Given the description of an element on the screen output the (x, y) to click on. 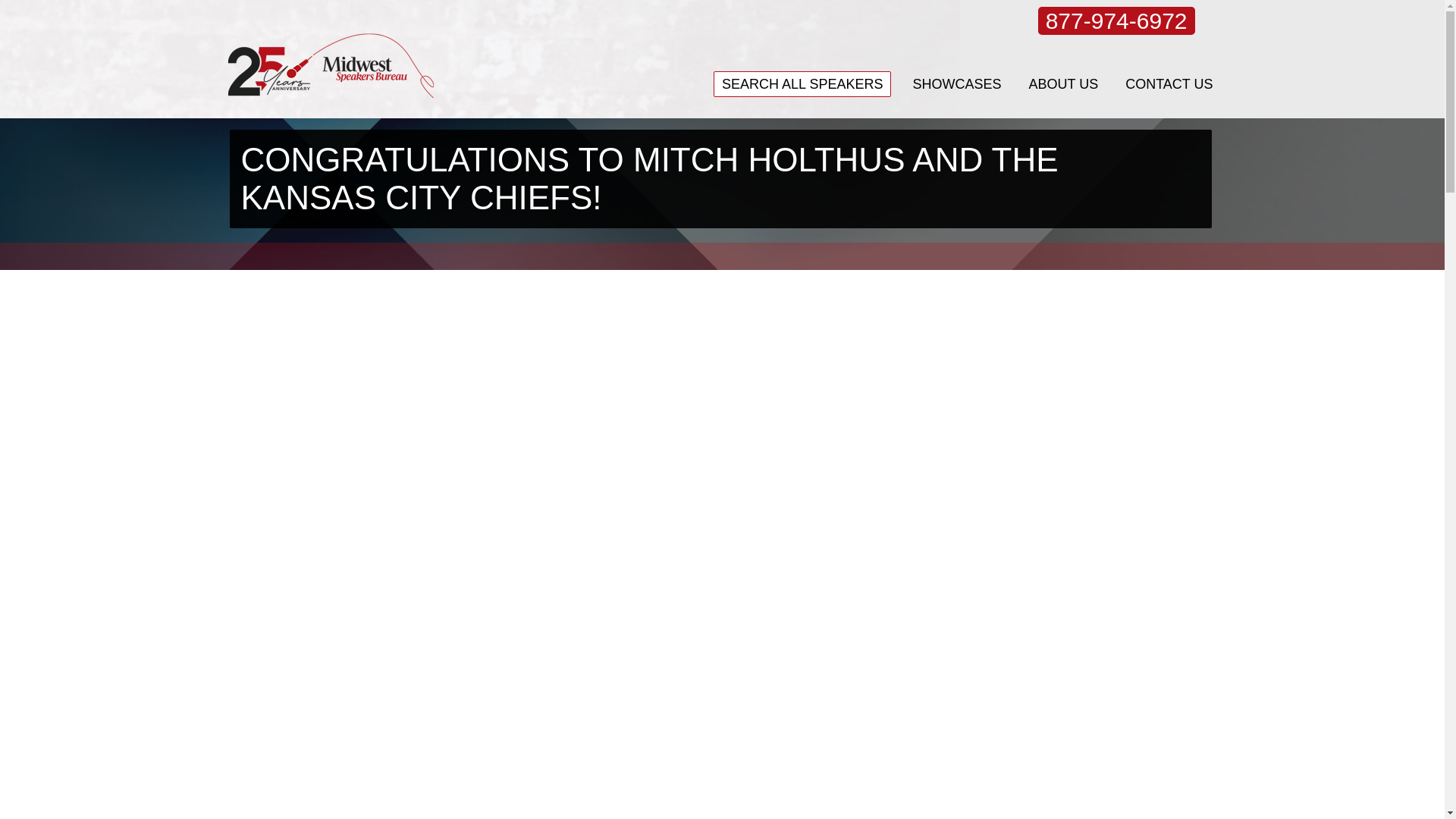
SEARCH ALL SPEAKERS (802, 84)
SHOWCASES (956, 83)
ABOUT US (1062, 83)
